Given the description of an element on the screen output the (x, y) to click on. 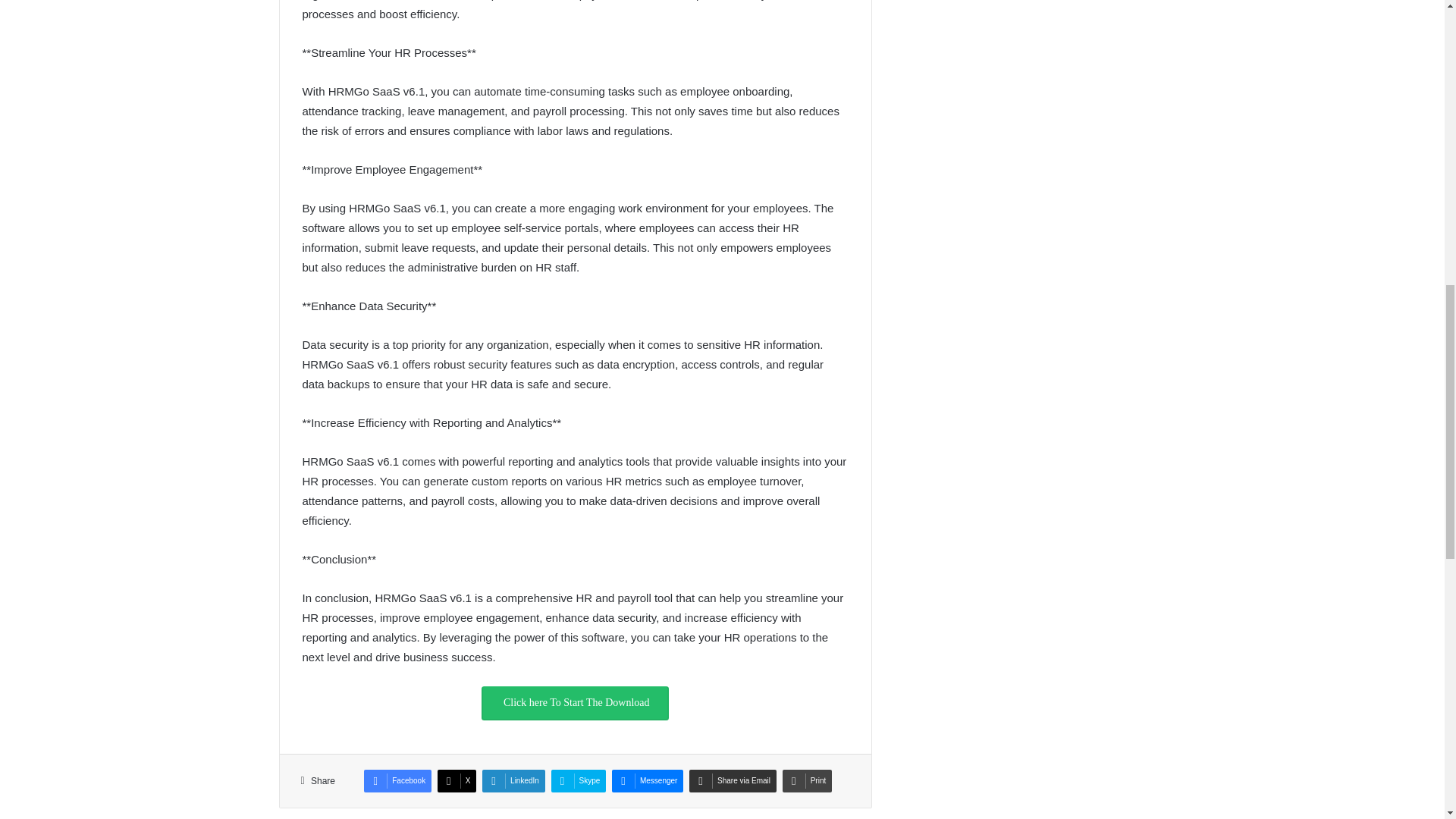
LinkedIn (512, 780)
Facebook (397, 780)
Messenger (646, 780)
X (457, 780)
Click here To Start The Download (575, 703)
Skype (579, 780)
